Given the description of an element on the screen output the (x, y) to click on. 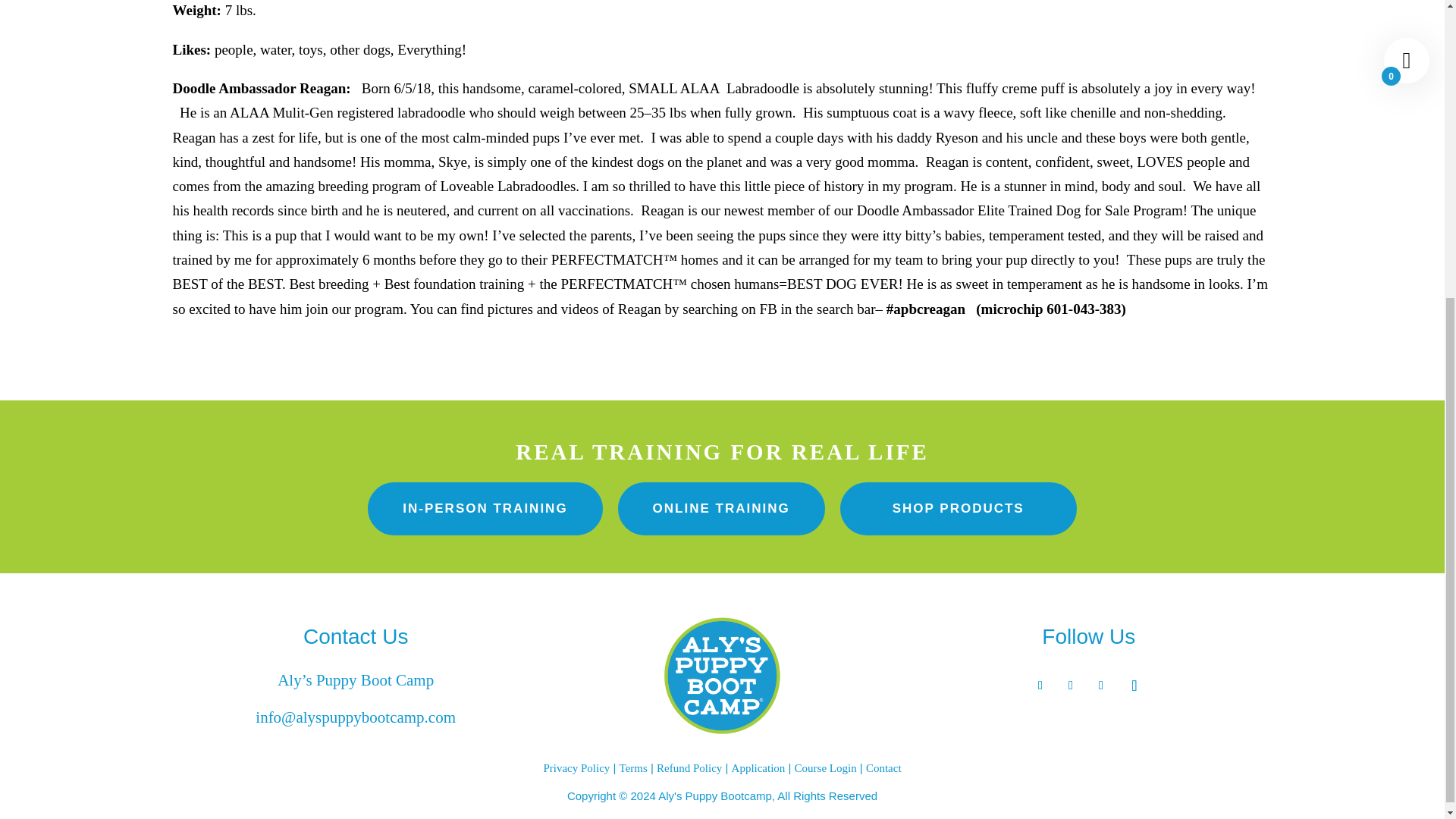
Follow on Facebook (1039, 685)
Follow on X (1101, 685)
Follow on Youtube (1134, 685)
Follow on Instagram (1070, 685)
